Given the description of an element on the screen output the (x, y) to click on. 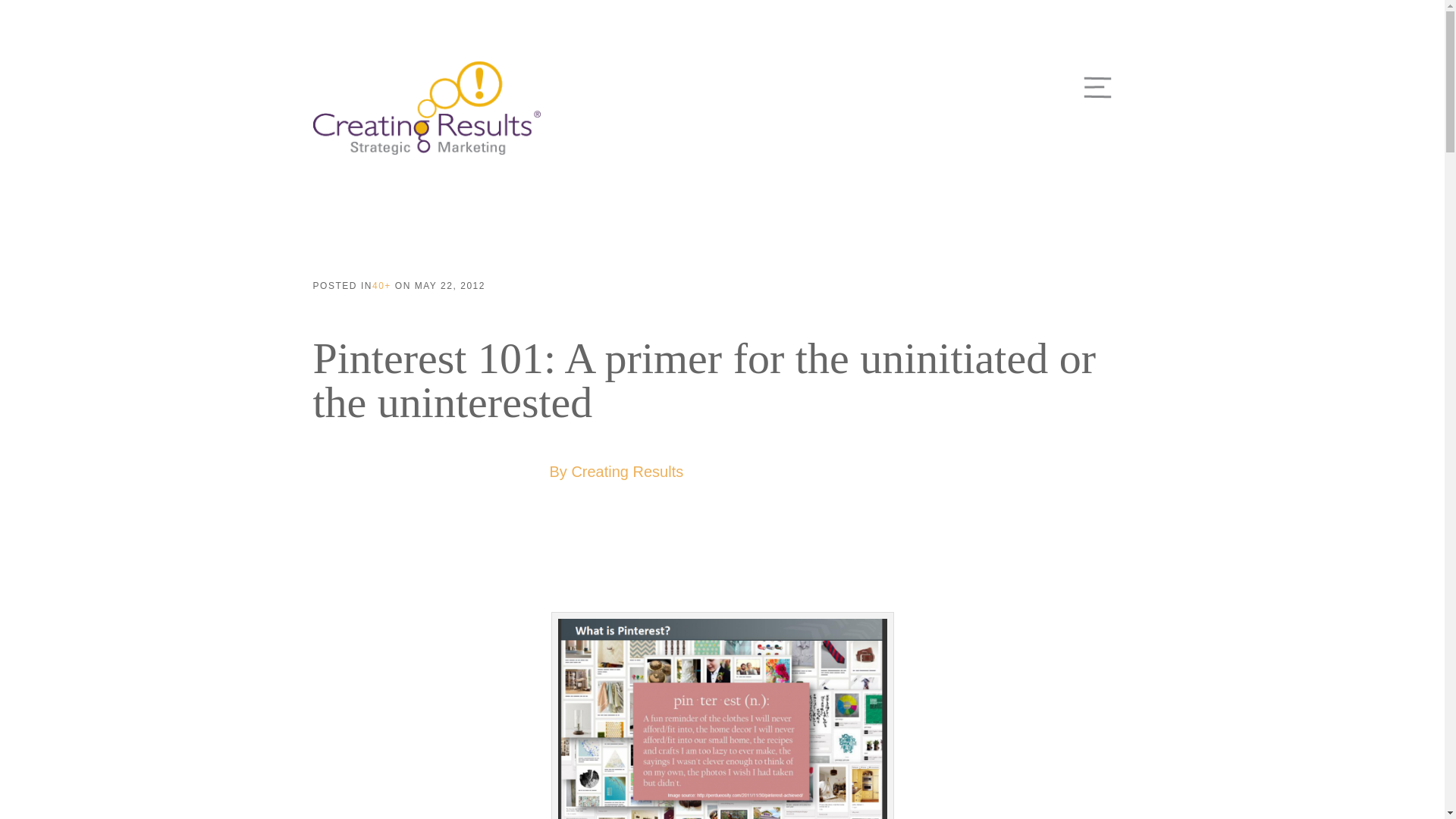
By Creating Results (615, 471)
Creating Results Gold and White Logo (426, 107)
Pinterest-Definition-Snarky (721, 719)
